Given the description of an element on the screen output the (x, y) to click on. 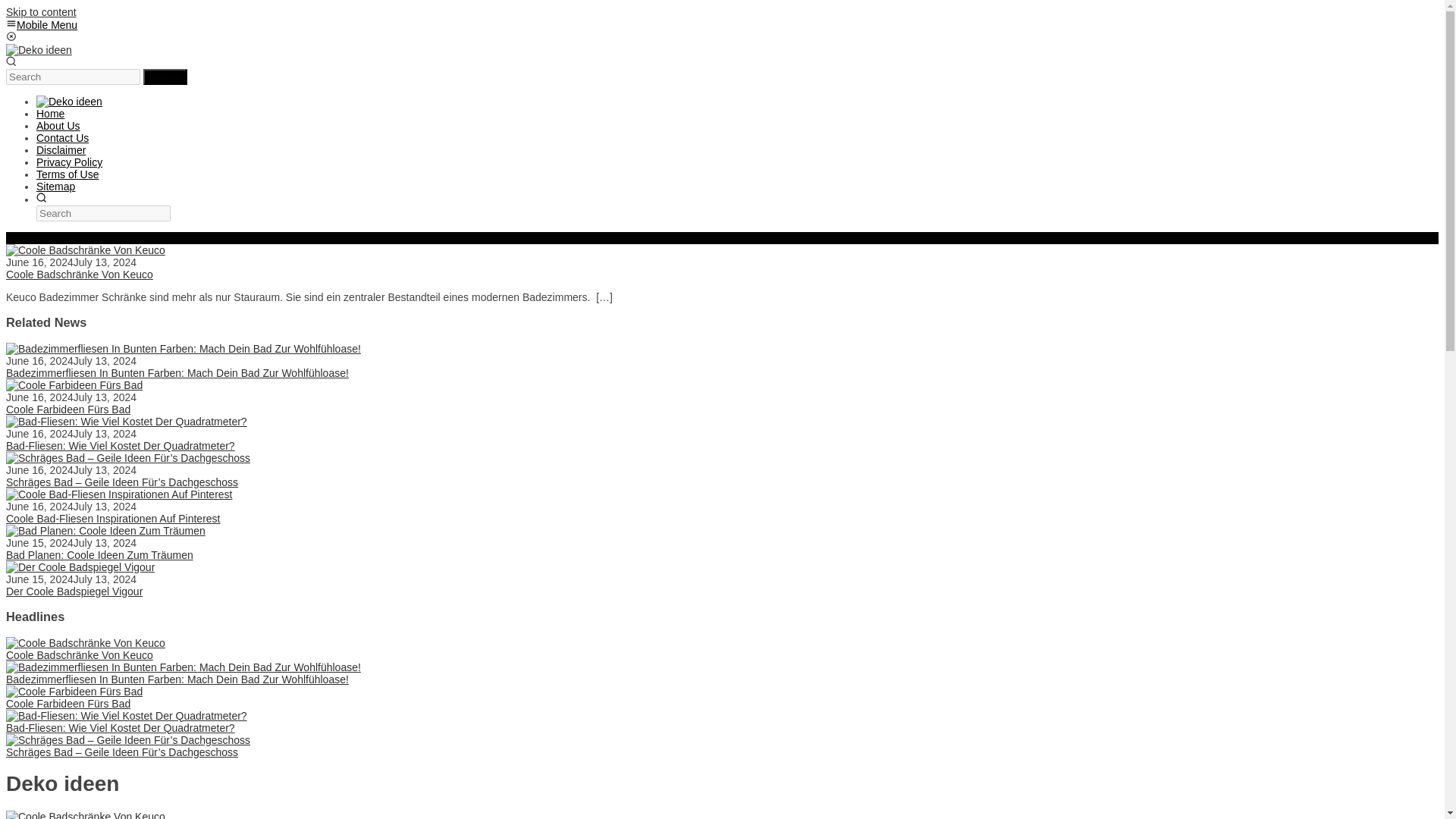
Coole Bad-Fliesen Inspirationen Auf Pinterest (113, 518)
Bad-Fliesen: Wie Viel Kostet Der Quadratmeter? (126, 421)
Deko ideen (68, 101)
Der Coole Badspiegel Vigour (73, 591)
Mobile Menu (41, 24)
Mobile Menu (41, 24)
Home (50, 113)
Sitemap (55, 186)
Bad-Fliesen: Wie Viel Kostet Der Quadratmeter? (119, 445)
Deko ideen (38, 50)
About Us (58, 125)
Skip to content (41, 11)
Disclaimer (60, 150)
Contact Us (62, 137)
Bad-Fliesen: Wie Viel Kostet Der Quadratmeter? (119, 727)
